Given the description of an element on the screen output the (x, y) to click on. 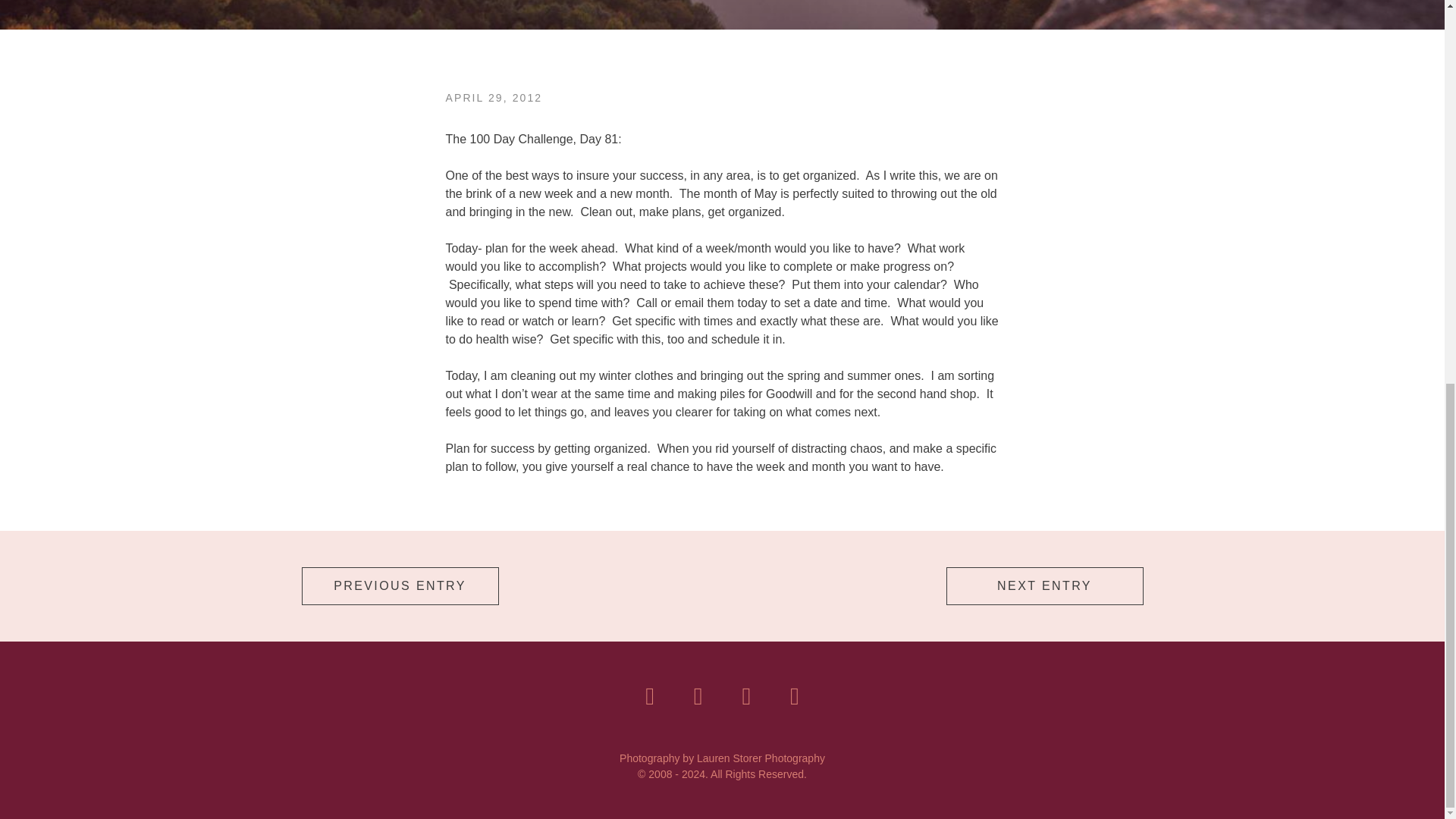
NEXT ENTRY (1044, 586)
PREVIOUS ENTRY (400, 586)
Lauren Storer Photography (761, 758)
